Given the description of an element on the screen output the (x, y) to click on. 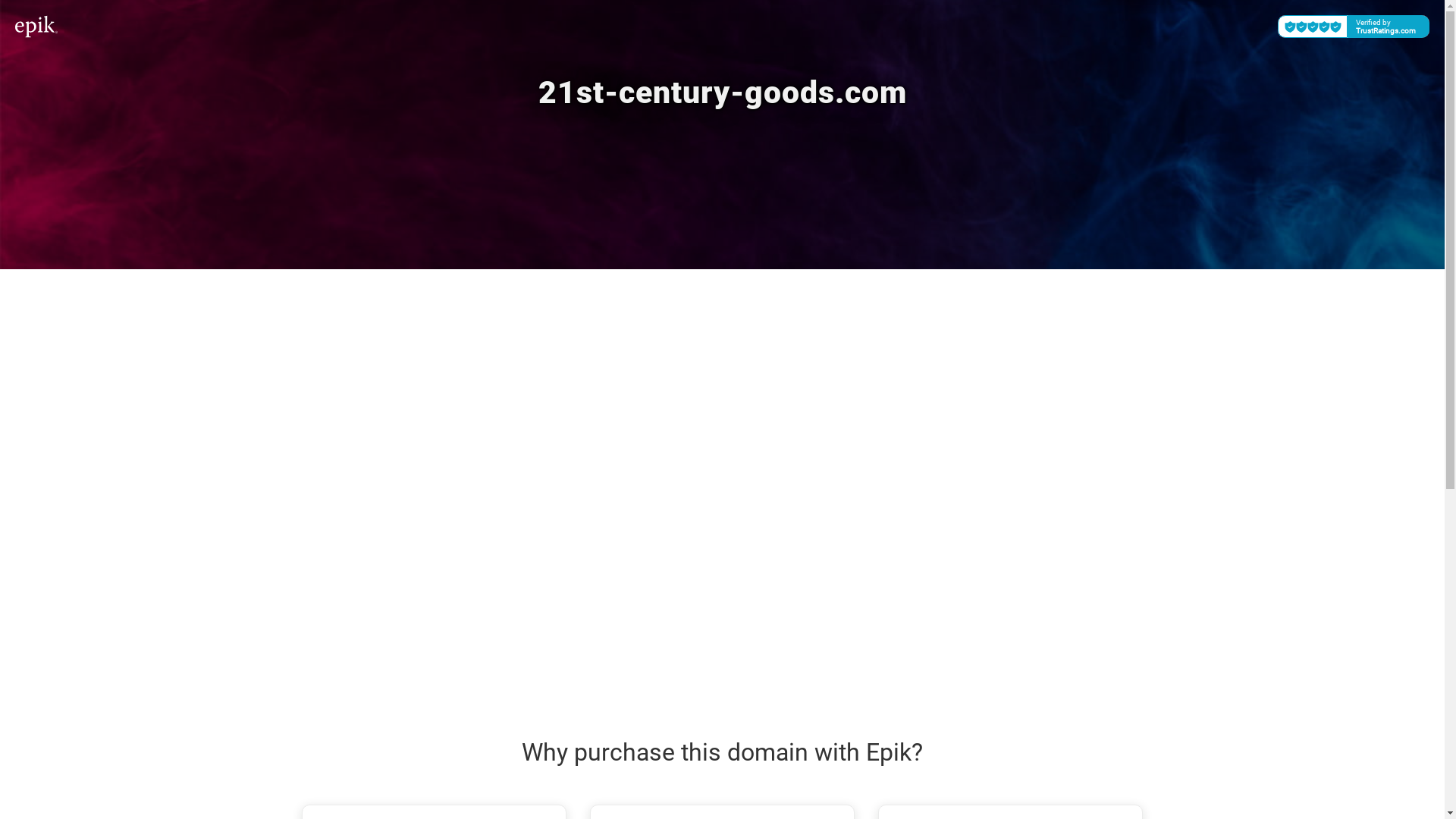
Verified by TrustRatings.com Element type: hover (1353, 26)
